Given the description of an element on the screen output the (x, y) to click on. 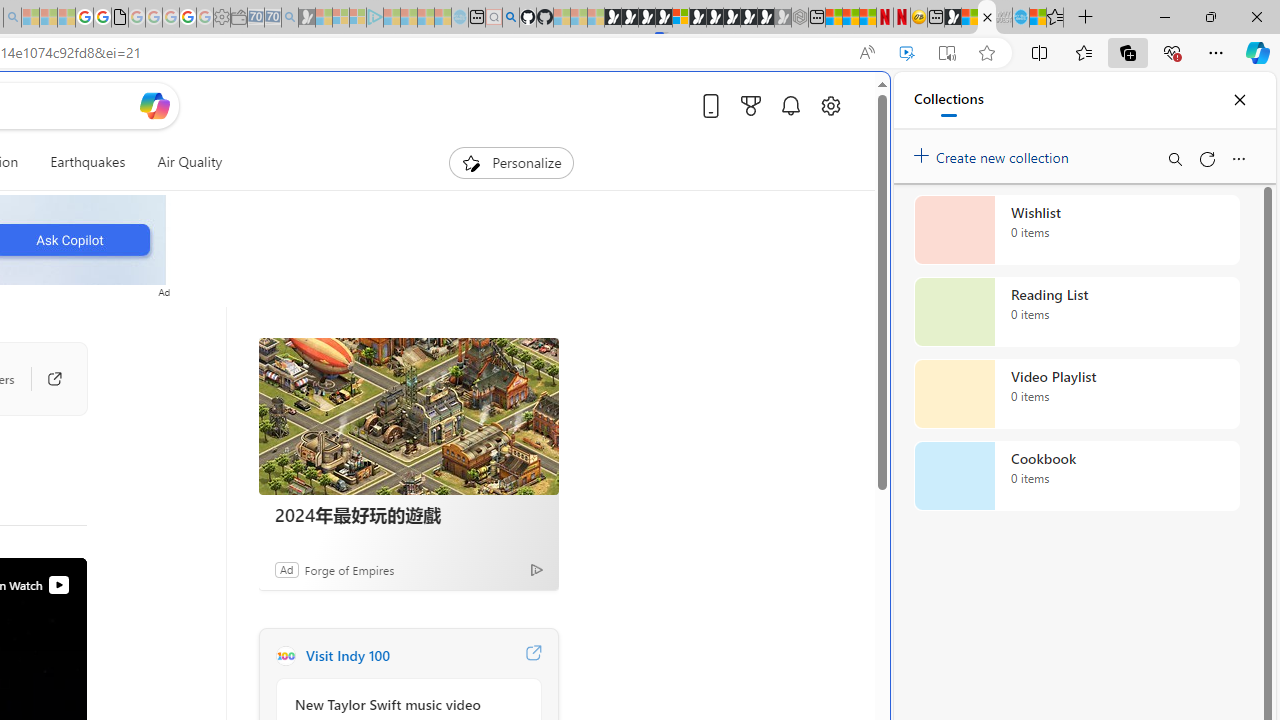
Open settings (830, 105)
Home | Sky Blue Bikes - Sky Blue Bikes (687, 426)
Wallet - Sleeping (238, 17)
Visit Indy 100 website (532, 655)
Navy Quest (1003, 17)
Settings - Sleeping (221, 17)
